Given the description of an element on the screen output the (x, y) to click on. 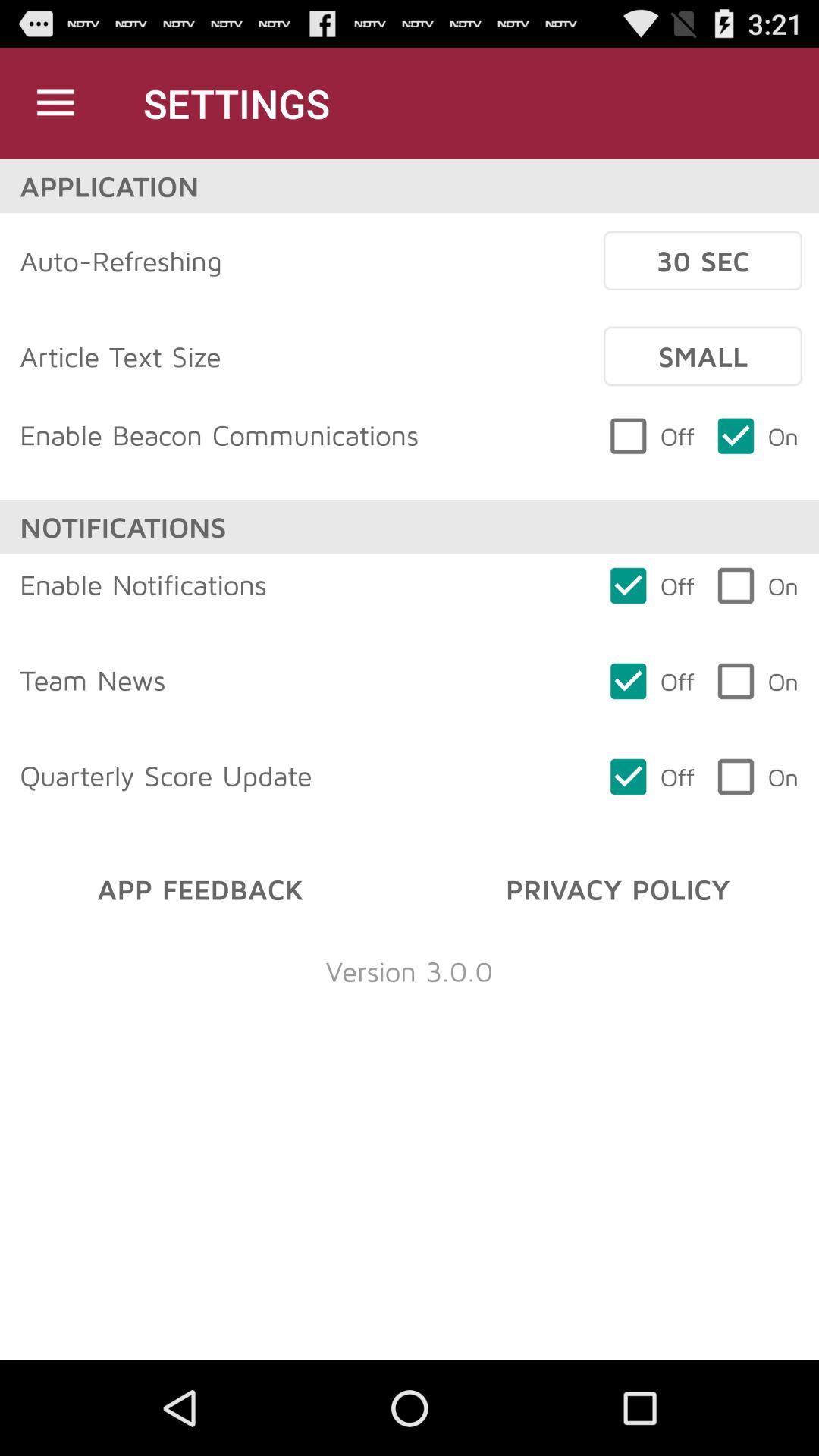
select the icon above application (55, 103)
